Given the description of an element on the screen output the (x, y) to click on. 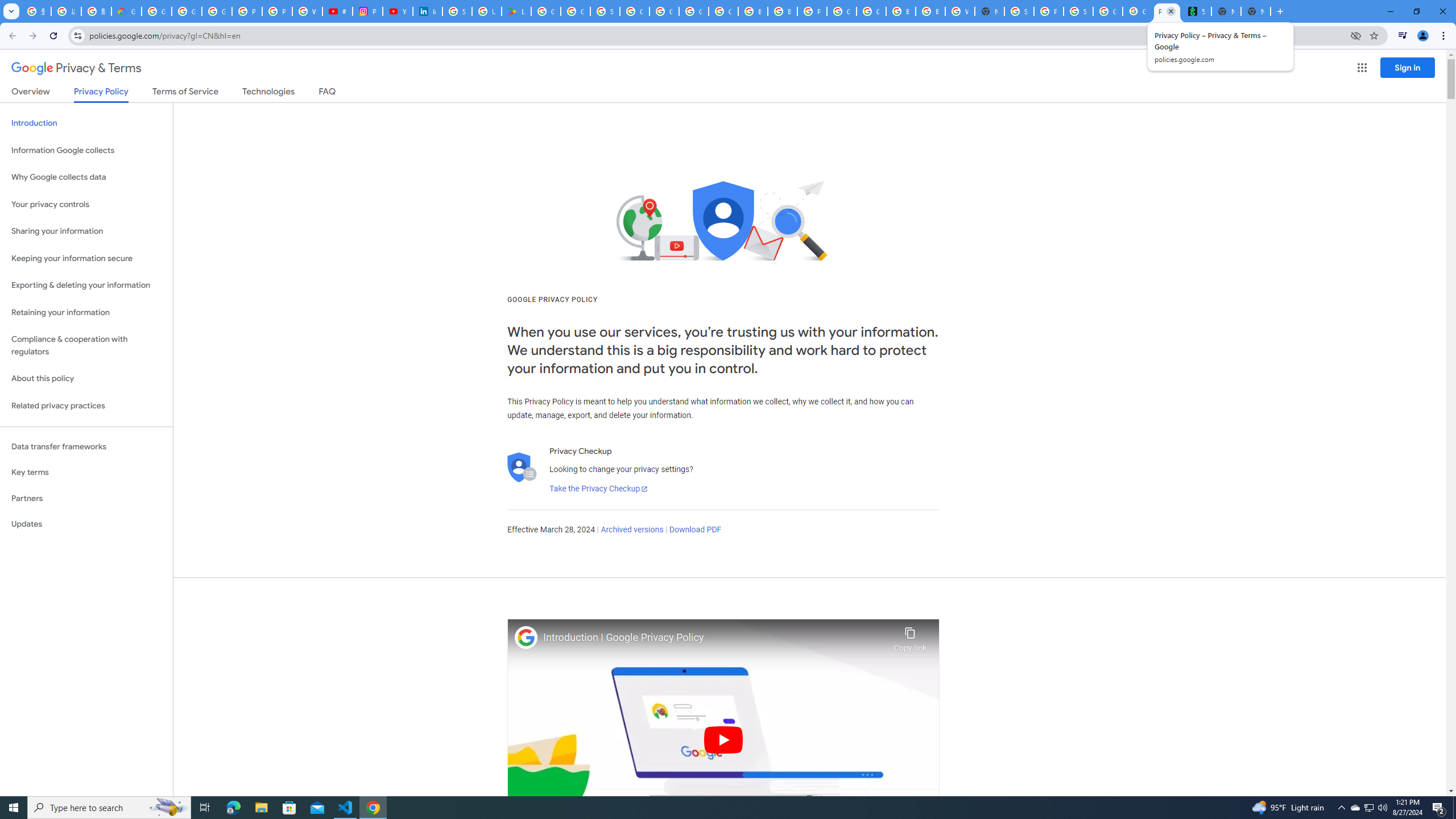
Key terms (86, 472)
Retaining your information (86, 312)
New Tab (1255, 11)
Your privacy controls (86, 204)
Browse Chrome as a guest - Computer - Google Chrome Help (930, 11)
Photo image of Google (526, 636)
Partners (86, 497)
Data transfer frameworks (86, 446)
